Given the description of an element on the screen output the (x, y) to click on. 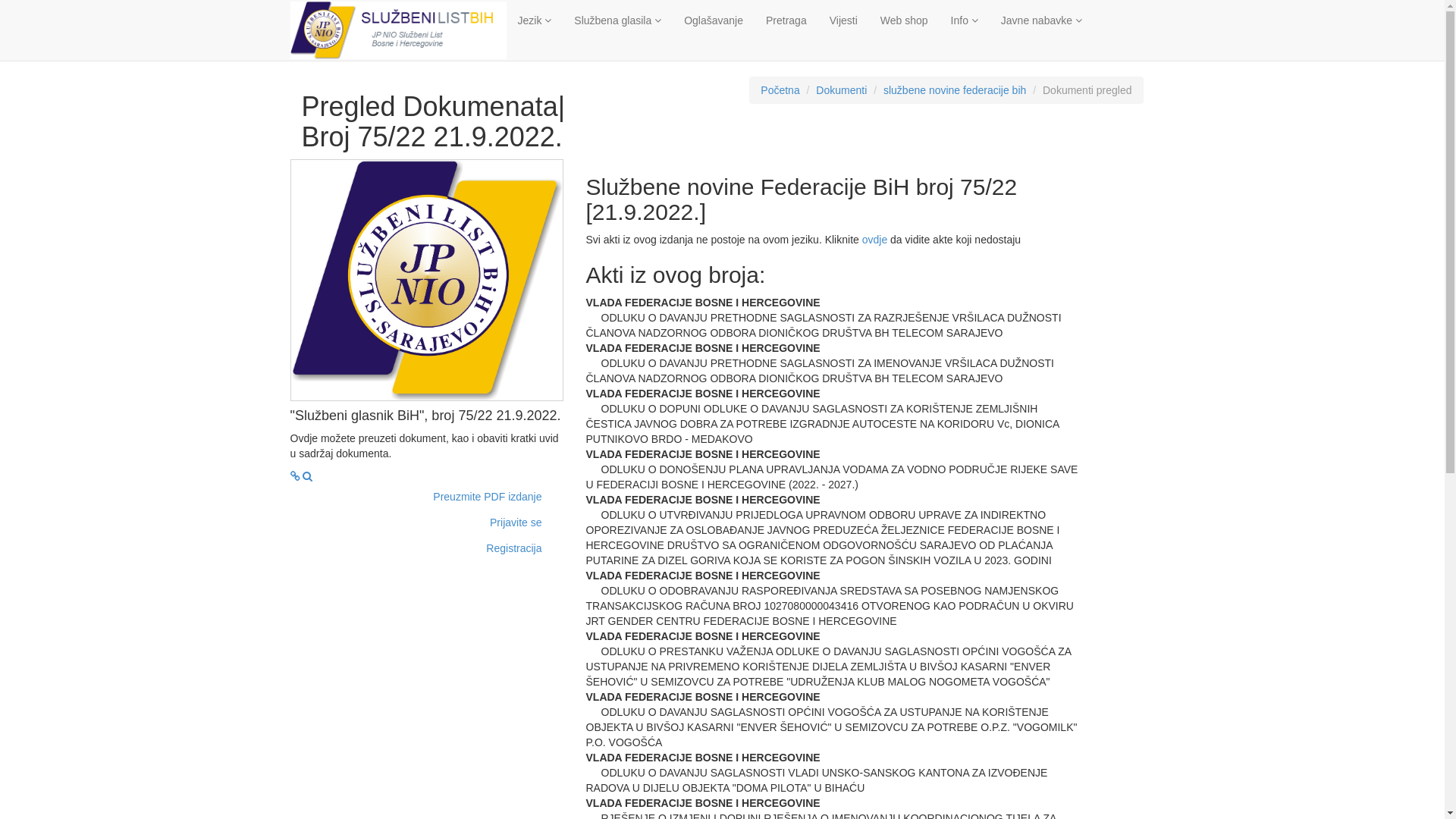
Preuzmite PDF izdanje Element type: text (487, 496)
Web shop Element type: text (904, 20)
Jezik Element type: text (534, 20)
Dokumenti Element type: text (840, 90)
Info Element type: text (964, 20)
ovdje Element type: text (876, 239)
Vijesti Element type: text (843, 20)
Registracija Element type: text (513, 548)
Project Name Element type: hover (307, 476)
Pretraga Element type: text (786, 20)
Prijavite se Element type: text (515, 522)
Javne nabavke Element type: text (1041, 20)
